Given the description of an element on the screen output the (x, y) to click on. 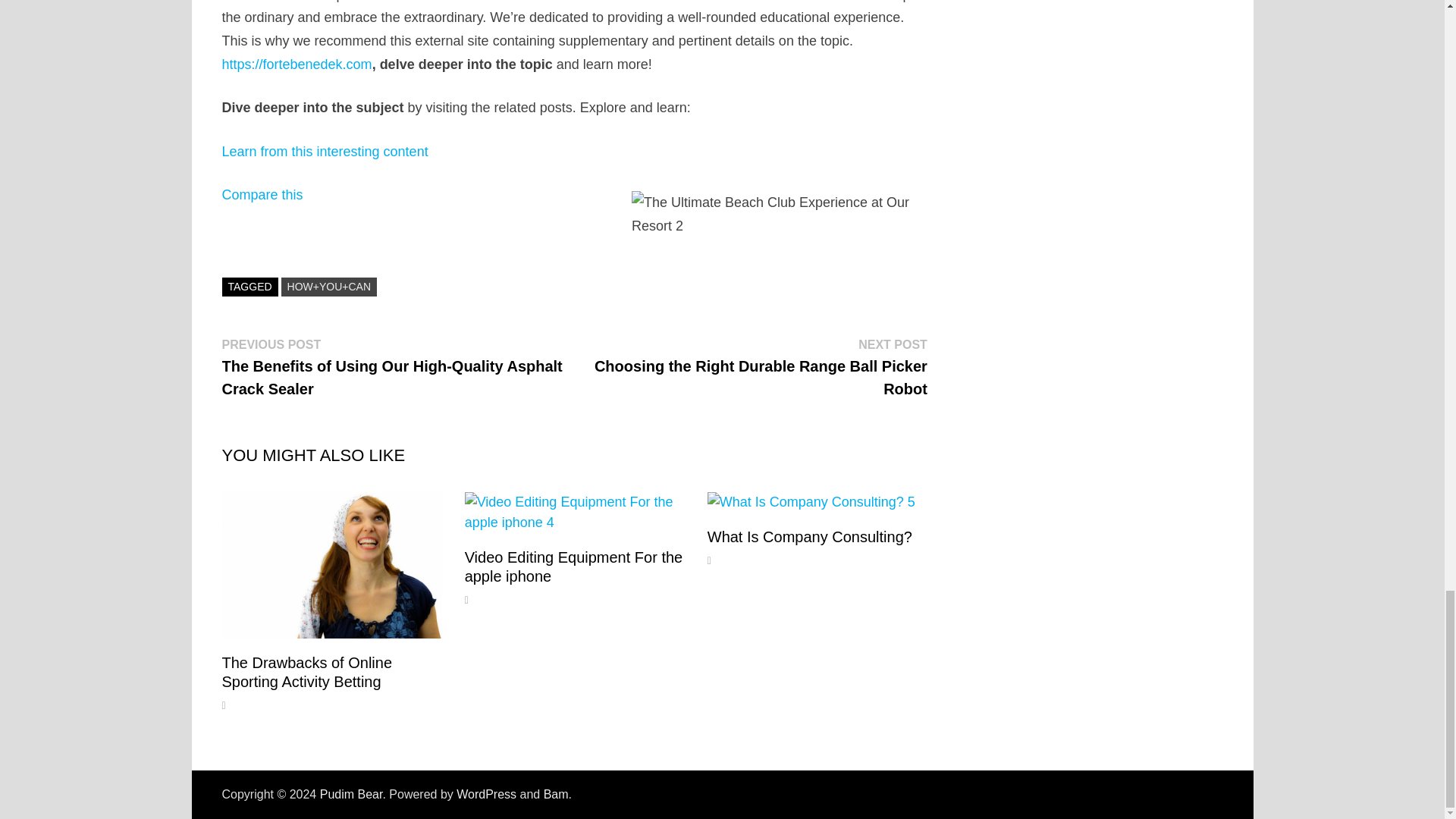
What Is Company Consulting? (809, 536)
The Drawbacks of Online Sporting Activity Betting (306, 672)
Video Editing Equipment For the apple iphone (573, 566)
Compare this (261, 194)
Pudim Bear (351, 793)
Learn from this interesting content (324, 151)
What Is Company Consulting? (809, 536)
Video Editing Equipment For the apple iphone (573, 566)
